Given the description of an element on the screen output the (x, y) to click on. 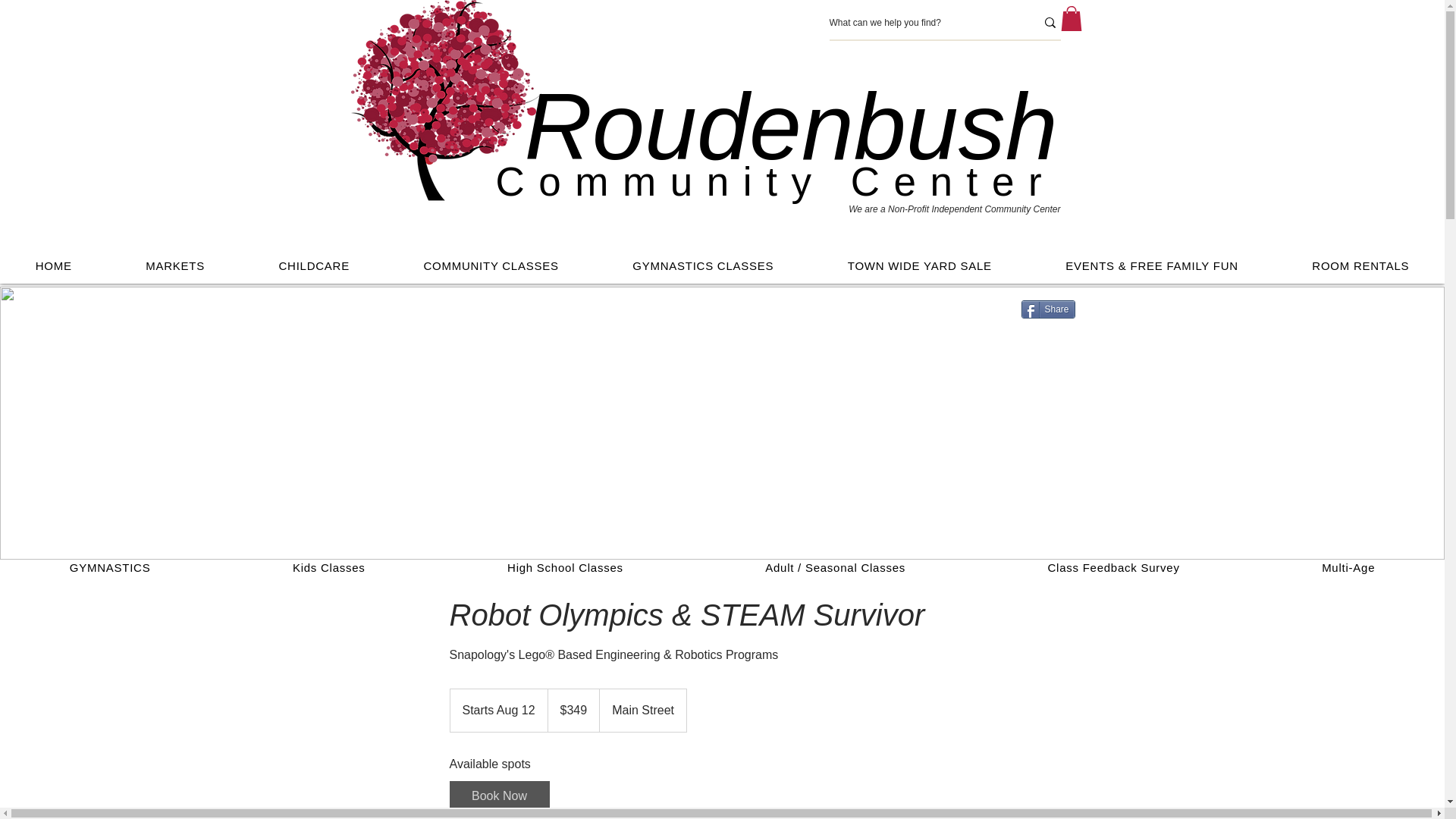
CHILDCARE (314, 265)
Class Feedback Survey (1113, 567)
COMMUNITY CLASSES (491, 265)
MARKETS (175, 265)
Book Now (498, 796)
GYMNASTICS CLASSES (702, 265)
HOME (53, 265)
Twitter Tweet (1050, 330)
High School Classes (565, 567)
Kids Classes (327, 567)
ROOM RENTALS (1360, 265)
Share (1047, 309)
TOWN WIDE YARD SALE (919, 265)
GYMNASTICS (109, 567)
Multi-Age (1348, 567)
